Given the description of an element on the screen output the (x, y) to click on. 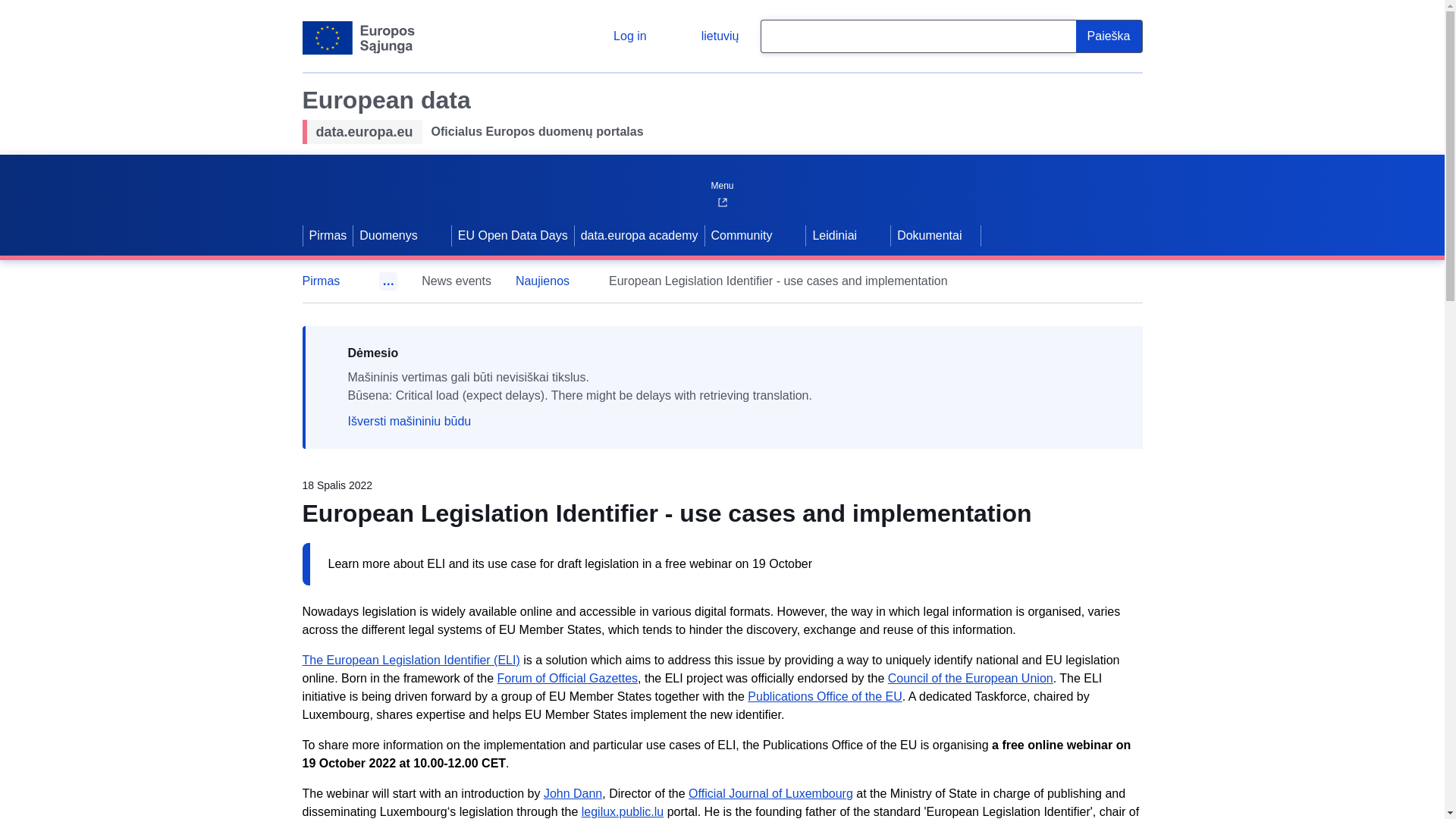
Duomenys (386, 235)
Leidiniai (833, 235)
Pirmas (328, 280)
EU Open Data Days (512, 235)
Pirmas (327, 235)
Dokumentai (935, 235)
European Union (357, 37)
data.europa academy (639, 235)
Menu (721, 181)
Community (740, 235)
